Given the description of an element on the screen output the (x, y) to click on. 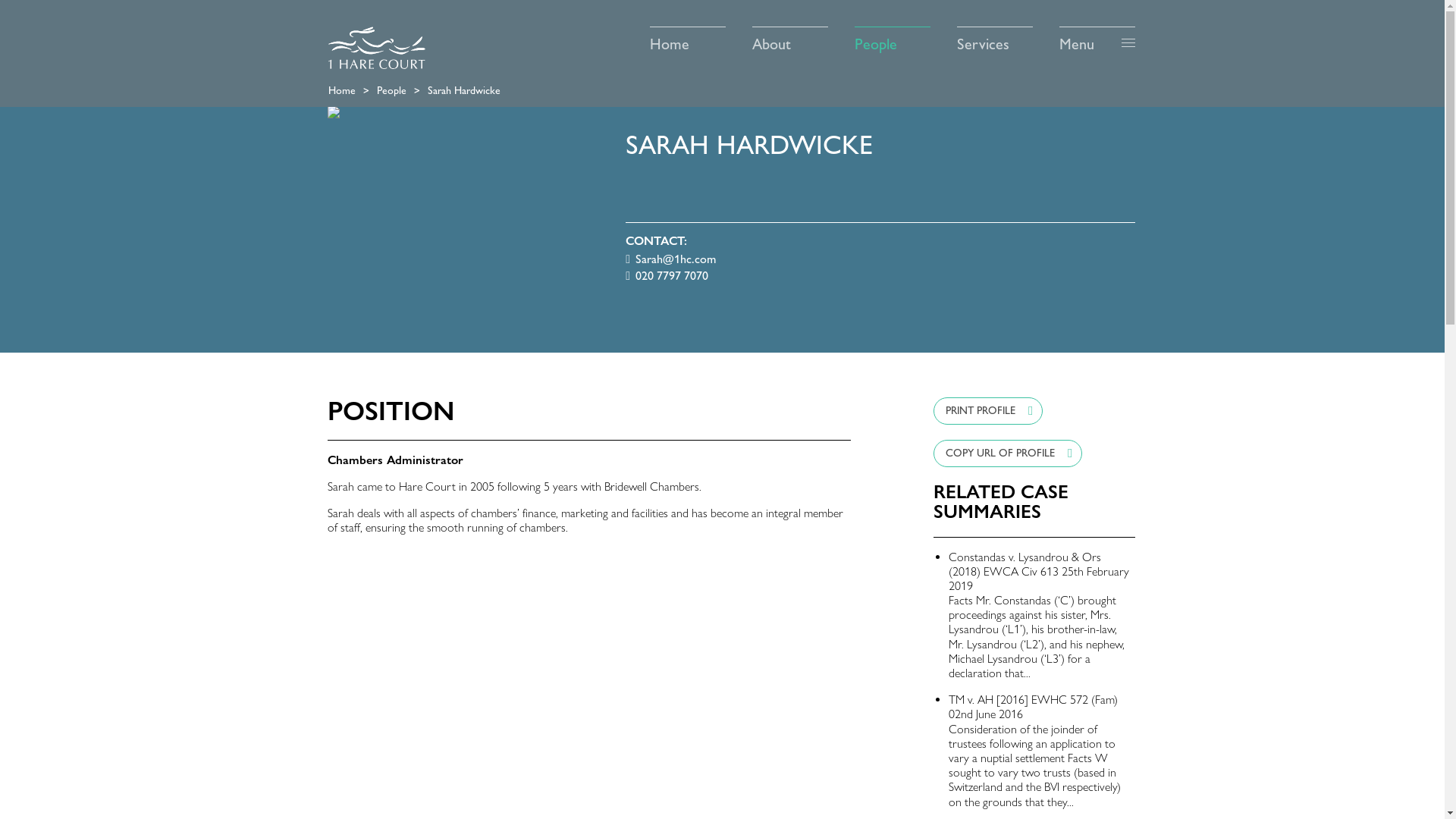
Services Element type: text (994, 38)
COPY URL OF PROFILE Element type: text (1007, 453)
TM v. AH [2016] EWHC 572 (Fam) 02nd June 2016 Element type: text (1032, 706)
Sarah@1hc.com Element type: text (670, 258)
Home Element type: text (341, 89)
Home Element type: text (687, 38)
020 7797 7070 Element type: text (666, 275)
Sarah Hardwicke Element type: text (463, 89)
People Element type: text (391, 89)
People Element type: text (892, 38)
About Element type: text (790, 38)
PRINT PROFILE Element type: text (987, 410)
